Given the description of an element on the screen output the (x, y) to click on. 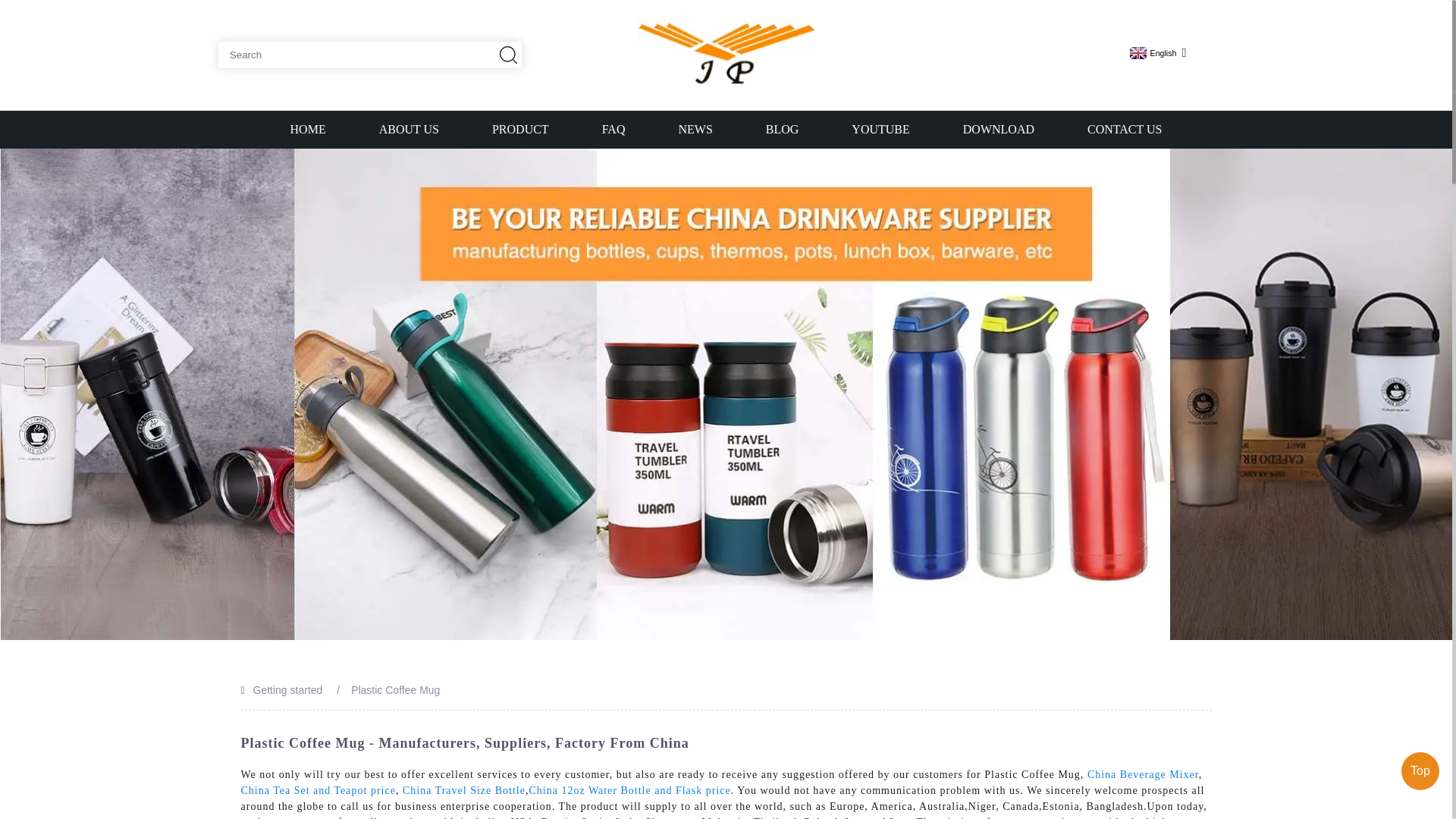
ABOUT US (408, 129)
HOME (307, 129)
China 12oz Water Bottle and Flask price (629, 790)
China Tea Set and Teapot price (318, 790)
China Travel Size Bottle (464, 790)
China Beverage Mixer (1142, 774)
PRODUCT (520, 129)
English (1150, 52)
